Given the description of an element on the screen output the (x, y) to click on. 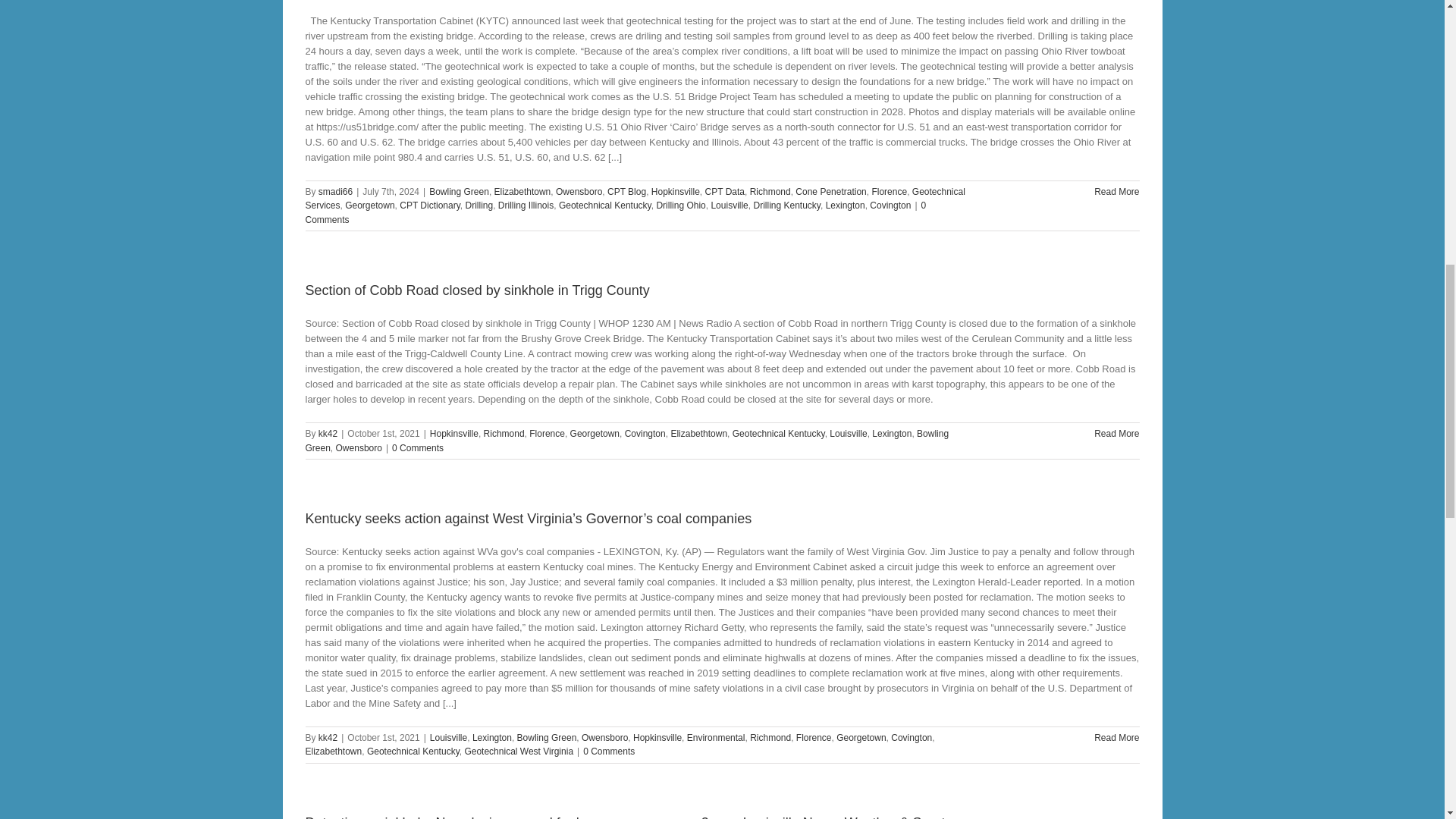
Posts by smadi66 (335, 191)
Posts by kk42 (327, 433)
Posts by kk42 (327, 737)
